Given the description of an element on the screen output the (x, y) to click on. 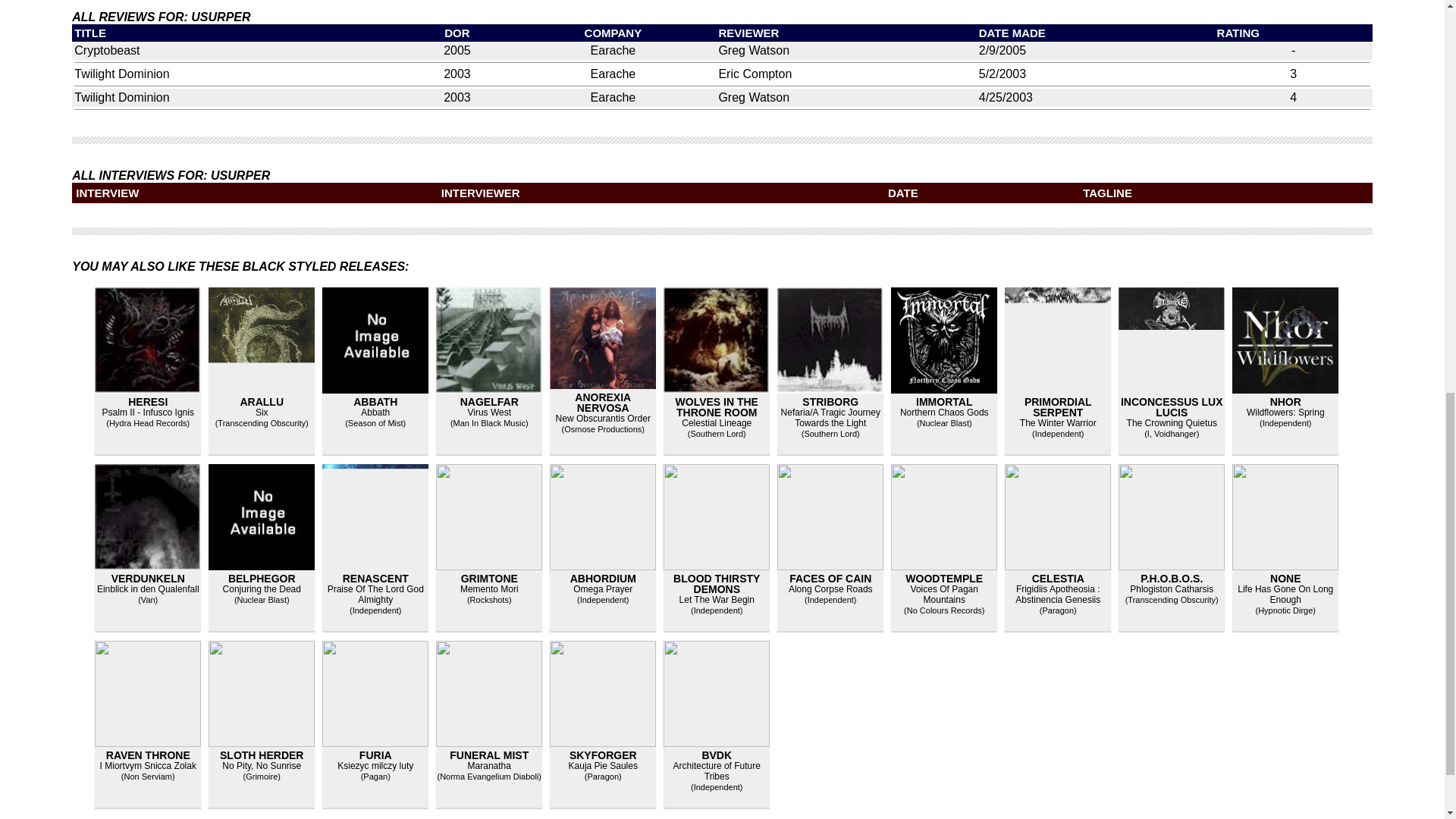
ABBATH (375, 401)
Psalm II - Infusco Ignis (147, 412)
New Obscurantis Order (603, 418)
Six (261, 412)
Twilight Dominion (121, 97)
Celestial Lineage (716, 422)
Virus West (489, 412)
ANOREXIA NERVOSA (602, 402)
ARALLU (261, 401)
IMMORTAL (943, 401)
Cryptobeast (106, 50)
Abbath (375, 412)
PRIMORDIAL SERPENT (1058, 406)
WOLVES IN THE THRONE ROOM (716, 406)
NAGELFAR (489, 401)
